Given the description of an element on the screen output the (x, y) to click on. 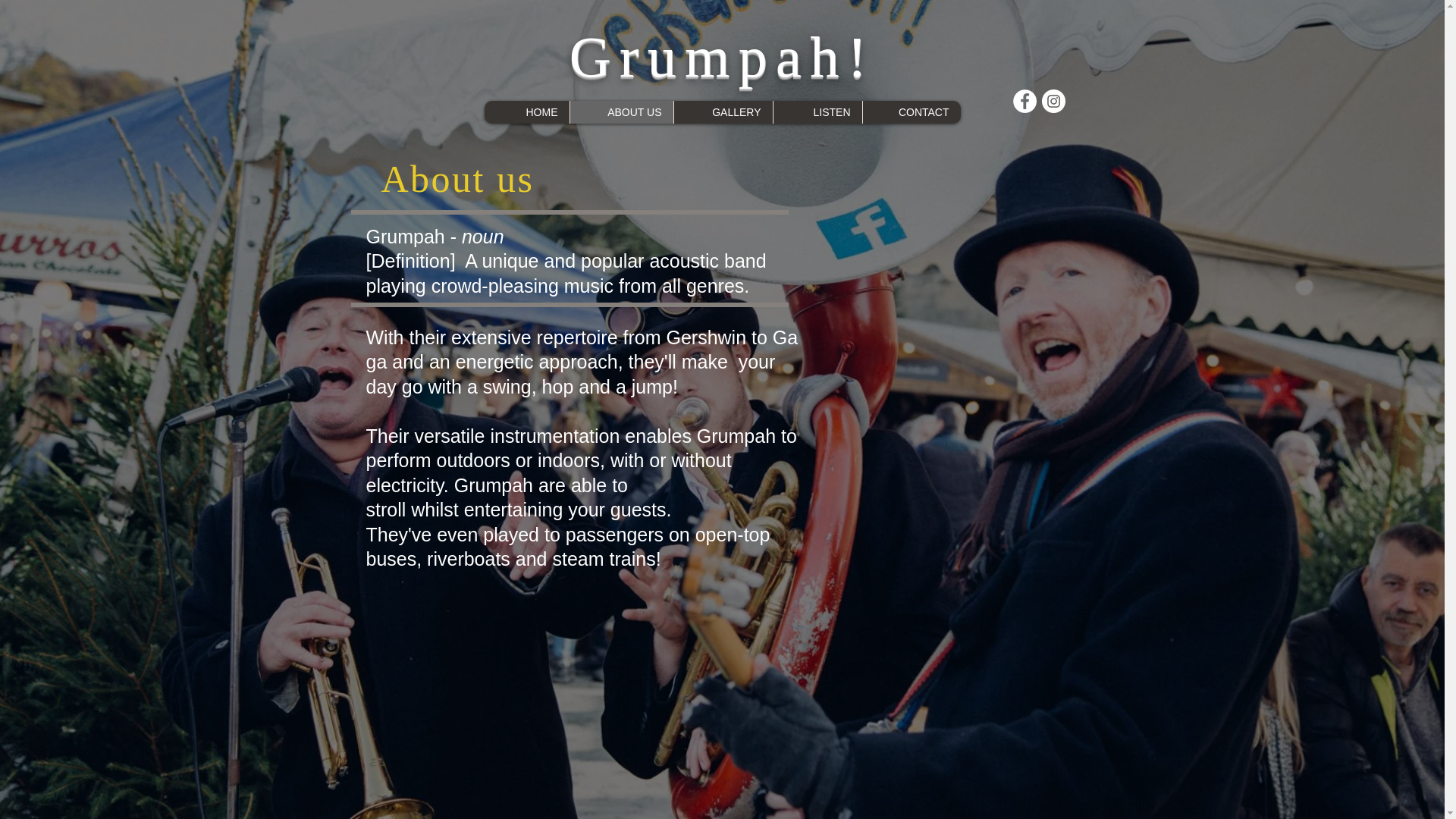
CONTACT (910, 111)
LISTEN (816, 111)
HOME (526, 111)
ABOUT US (620, 111)
Grumpah! (722, 56)
GALLERY (722, 111)
